Given the description of an element on the screen output the (x, y) to click on. 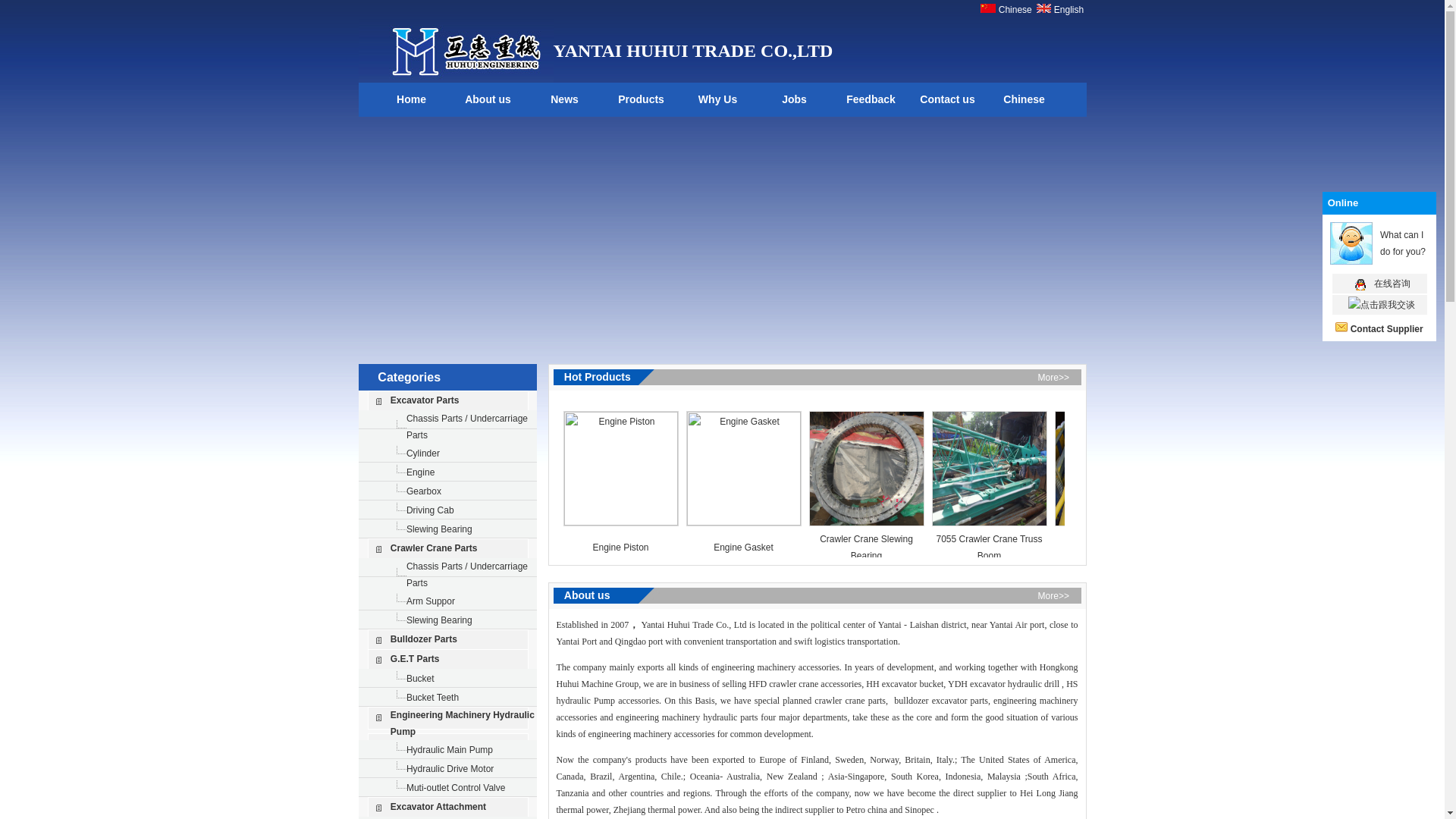
News (564, 99)
Bucket (419, 678)
Slewing Bearing (438, 619)
Click to send an inquiry (1387, 327)
Chinese (1012, 9)
Products (641, 99)
Arm Suppor (430, 601)
Cylinder (422, 452)
G.E.T Parts (414, 658)
Contact us (947, 99)
